Given the description of an element on the screen output the (x, y) to click on. 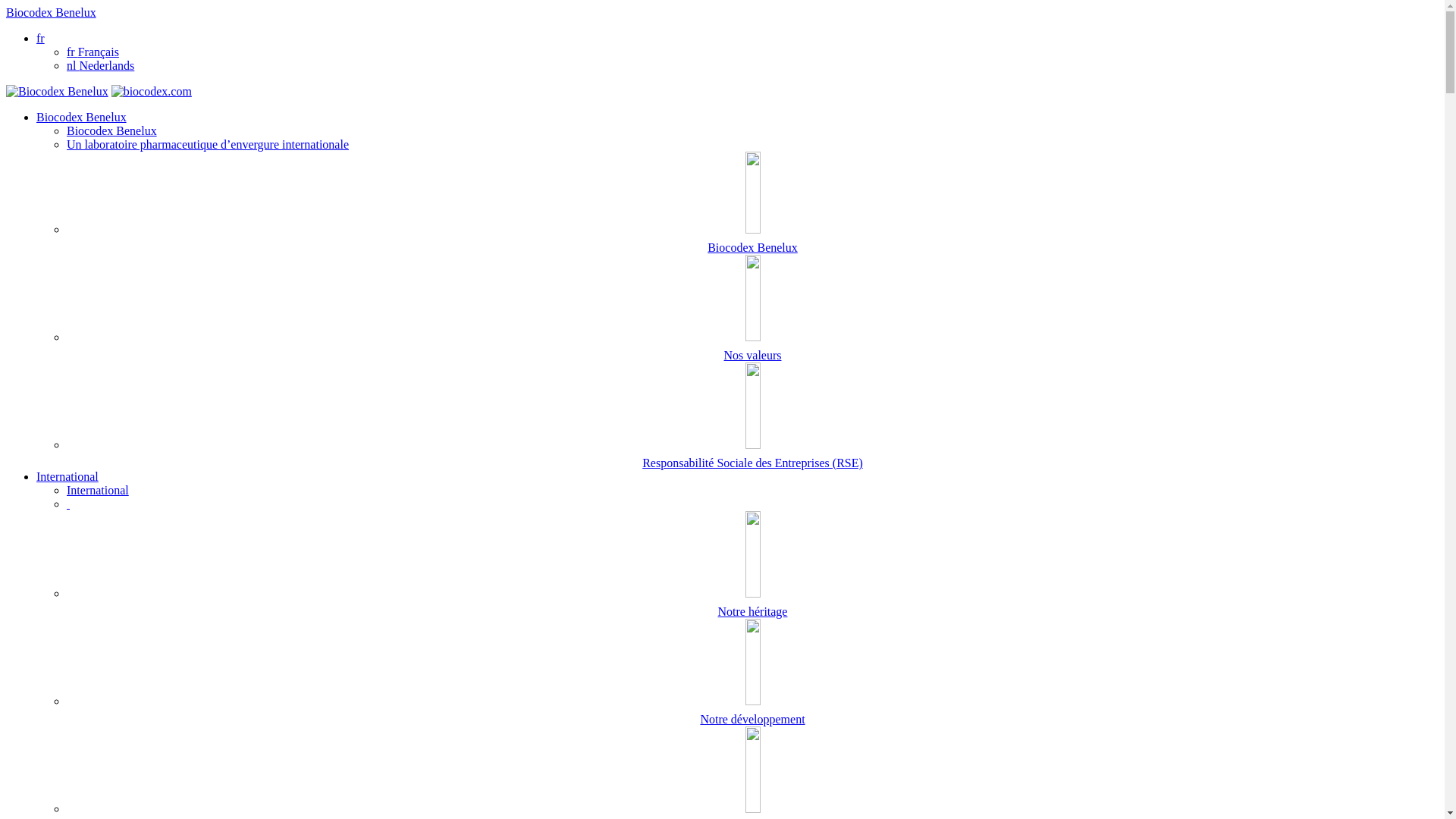
Biocodex Benelux Element type: text (752, 202)
nl Nederlands Element type: text (100, 65)
Biocodex Benelux Element type: text (111, 130)
biocodex.com Element type: hover (151, 90)
International Element type: text (67, 476)
Nos valeurs Element type: text (752, 308)
fr Element type: text (40, 37)
Biocodex Benelux Element type: text (81, 116)
International Element type: text (97, 489)
Biocodex Benelux Element type: text (51, 12)
  Element type: text (67, 503)
